Given the description of an element on the screen output the (x, y) to click on. 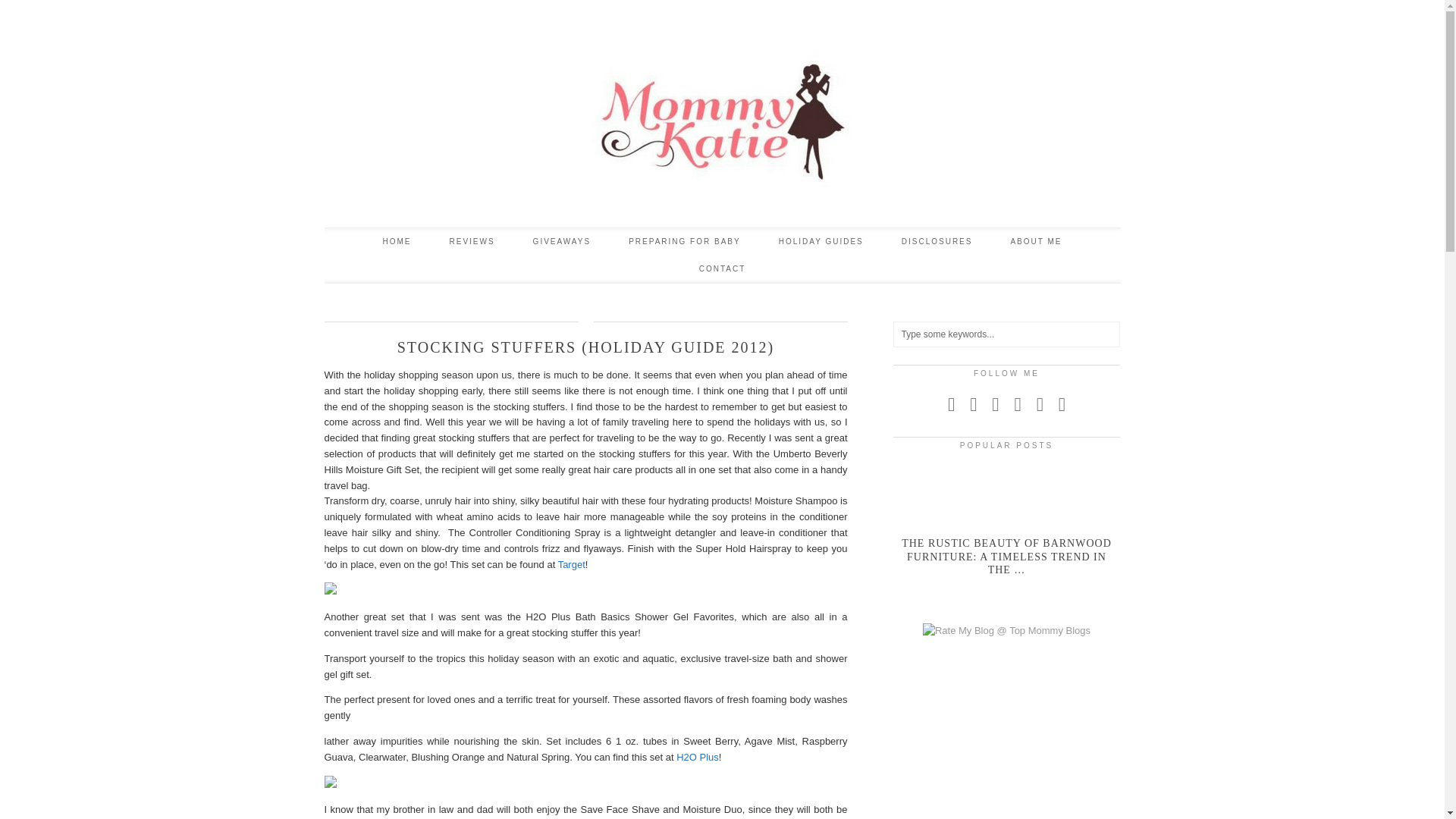
REVIEWS (471, 241)
PREPARING FOR BABY (685, 241)
ABOUT ME (1035, 241)
DISCLOSURES (936, 241)
HOLIDAY GUIDES (821, 241)
GIVEAWAYS (561, 241)
Search for: (1007, 334)
Target (571, 564)
H2O Plus (698, 756)
HOME (395, 241)
CONTACT (722, 268)
